Given the description of an element on the screen output the (x, y) to click on. 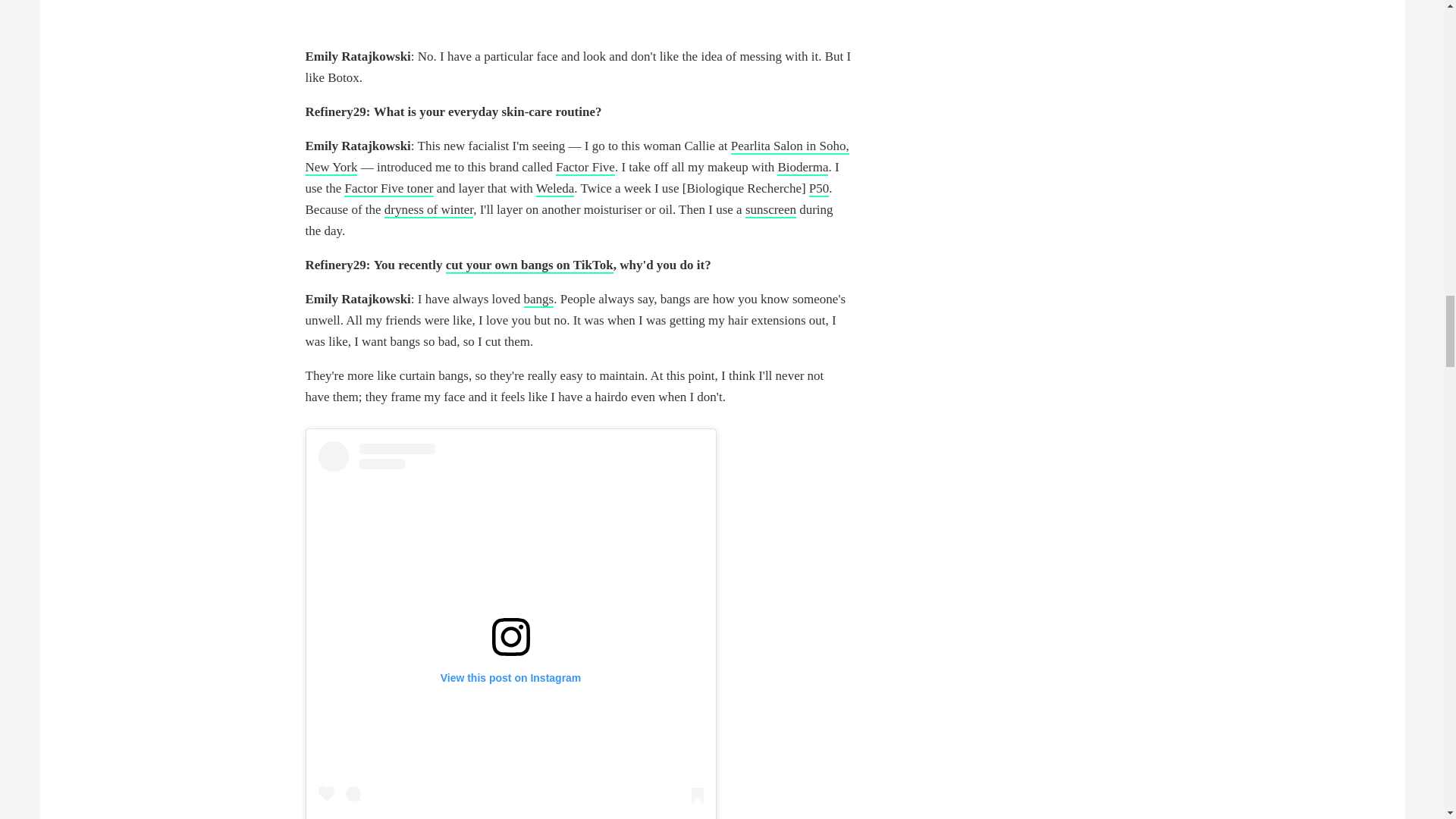
Bioderma (802, 167)
Factor Five (585, 167)
dryness of winter (428, 210)
Factor Five toner (387, 188)
sunscreen (770, 210)
Pearlita Salon in Soho, New York (576, 157)
Weleda (555, 188)
P50 (818, 188)
